Given the description of an element on the screen output the (x, y) to click on. 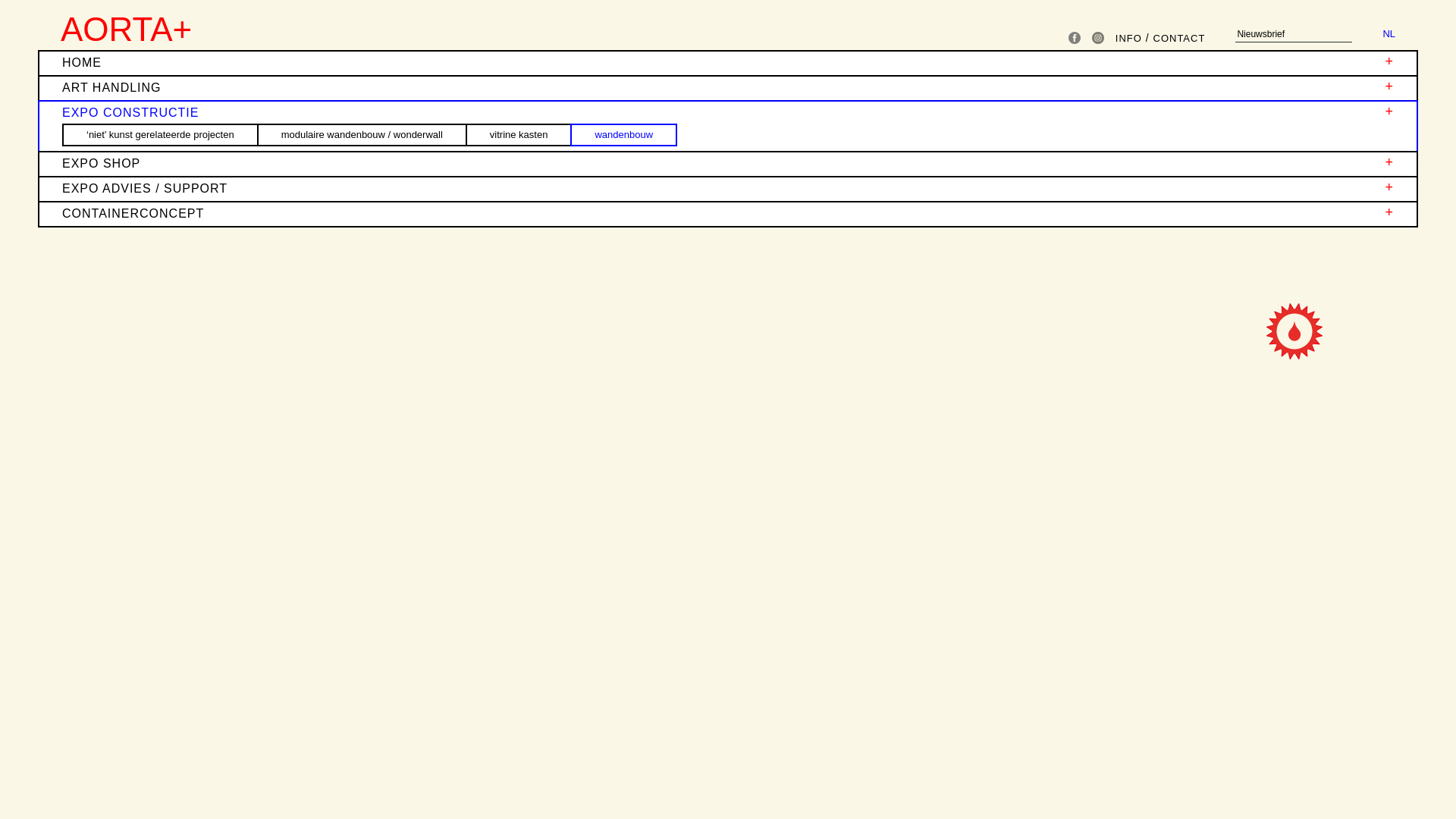
CONTACT Element type: text (1178, 37)
INFO Element type: text (1128, 37)
AORTA+ Element type: text (125, 28)
HOME
+ Element type: text (727, 63)
EXPO ADVIES / SUPPORT
+ Element type: text (727, 188)
NL Element type: text (1388, 33)
ART HANDLING
+ Element type: text (727, 88)
vitrine kasten Element type: text (518, 134)
EXPO SHOP
+ Element type: text (727, 163)
wandenbouw Element type: text (623, 134)
modulaire wandenbouw / wonderwall Element type: text (361, 134)
EXPO CONSTRUCTIE
+ Element type: text (727, 113)
CONTAINERCONCEPT
+ Element type: text (727, 213)
